Given the description of an element on the screen output the (x, y) to click on. 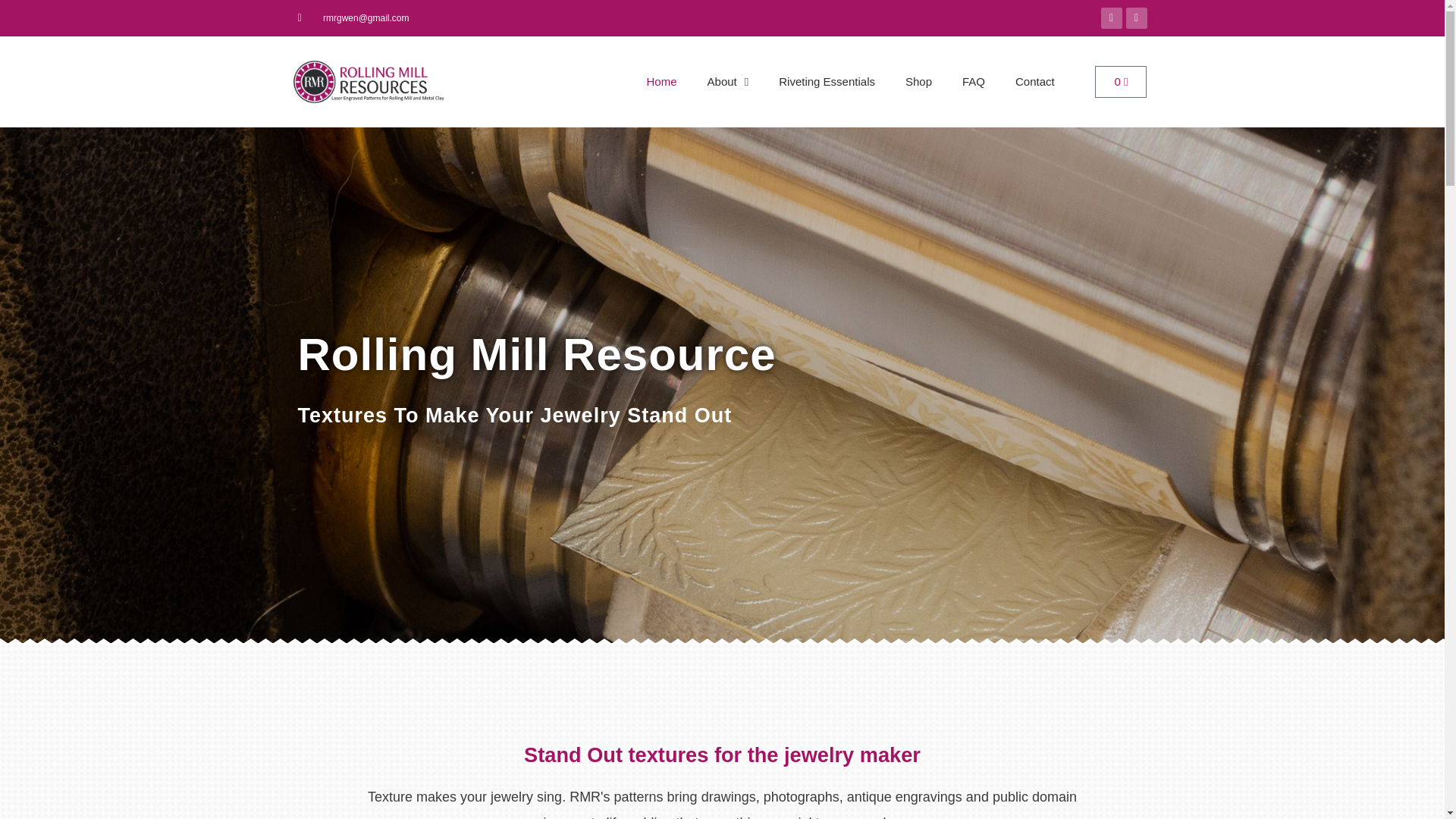
Contact (1120, 81)
Facebook (1035, 81)
Riveting Essentials (1111, 17)
About (825, 81)
Instagram (728, 81)
